Given the description of an element on the screen output the (x, y) to click on. 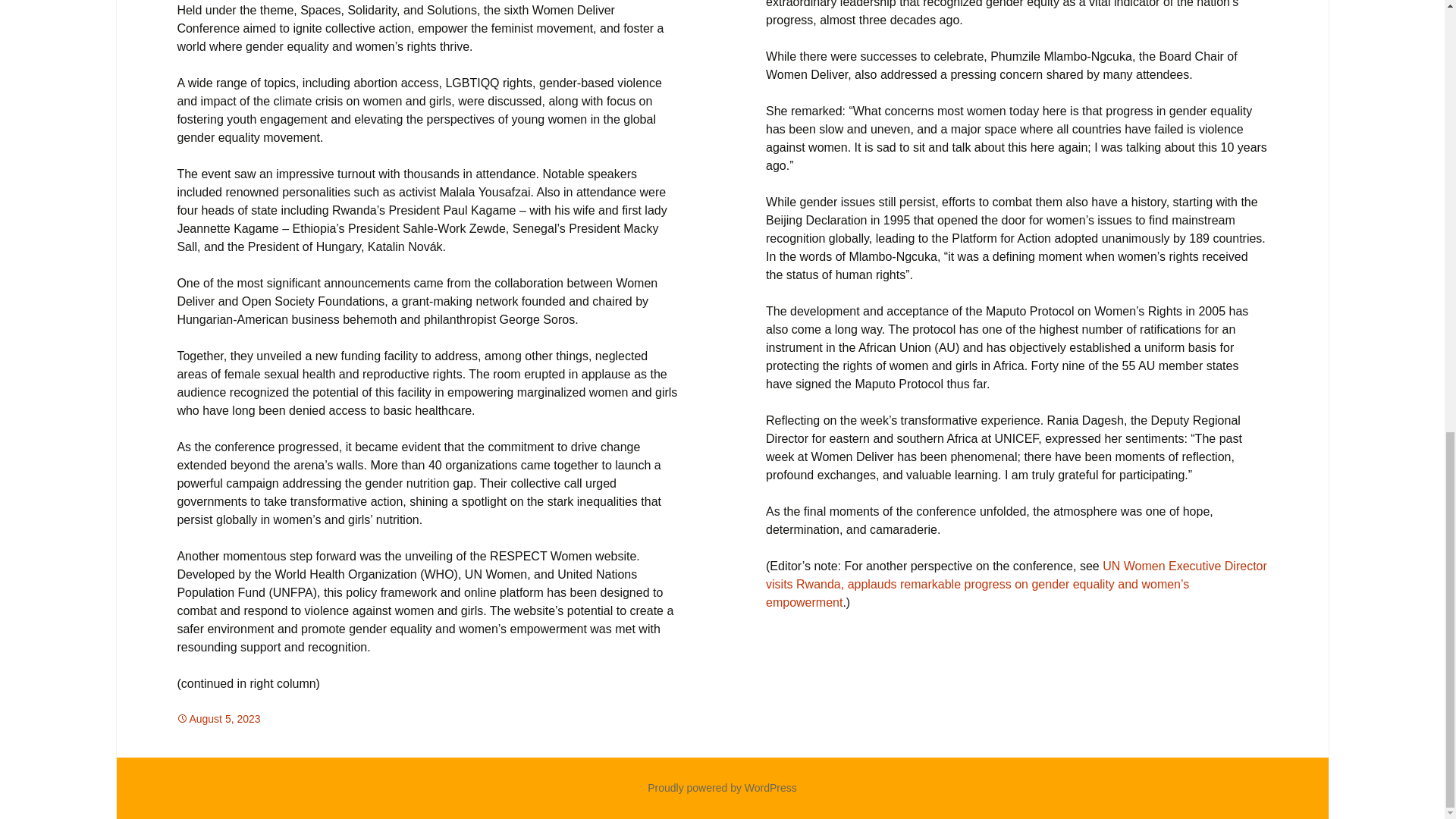
Africa (295, 718)
Semantic Personal Publishing Platform (721, 787)
August 5, 2023 (218, 718)
WOMEN'S EQUALITY (408, 718)
global (334, 718)
